Given the description of an element on the screen output the (x, y) to click on. 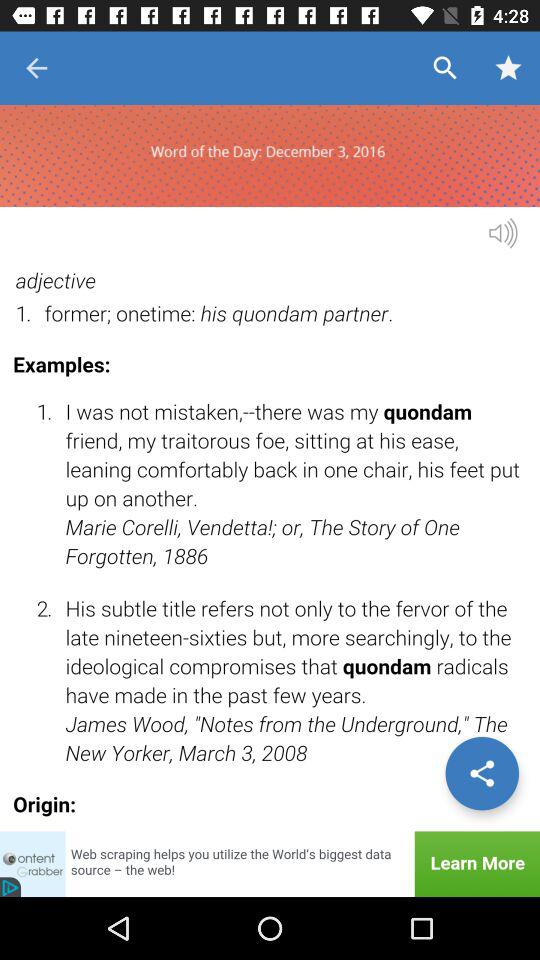
options/settings (482, 773)
